Given the description of an element on the screen output the (x, y) to click on. 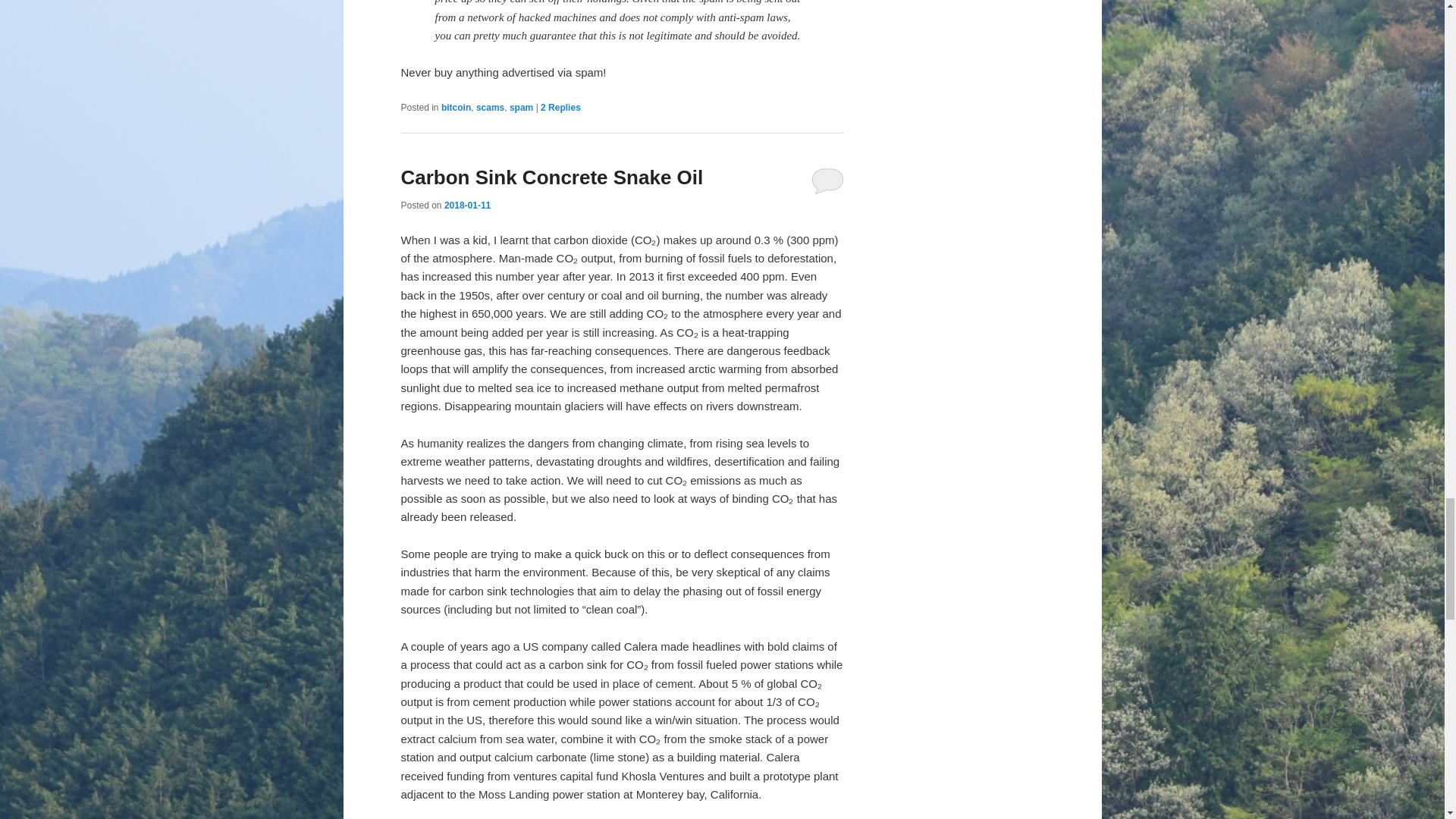
Carbon Sink Concrete Snake Oil (551, 177)
spam (520, 107)
2018-01-11 (467, 204)
2 Replies (560, 107)
scams (489, 107)
bitcoin (455, 107)
17:01 (467, 204)
